Given the description of an element on the screen output the (x, y) to click on. 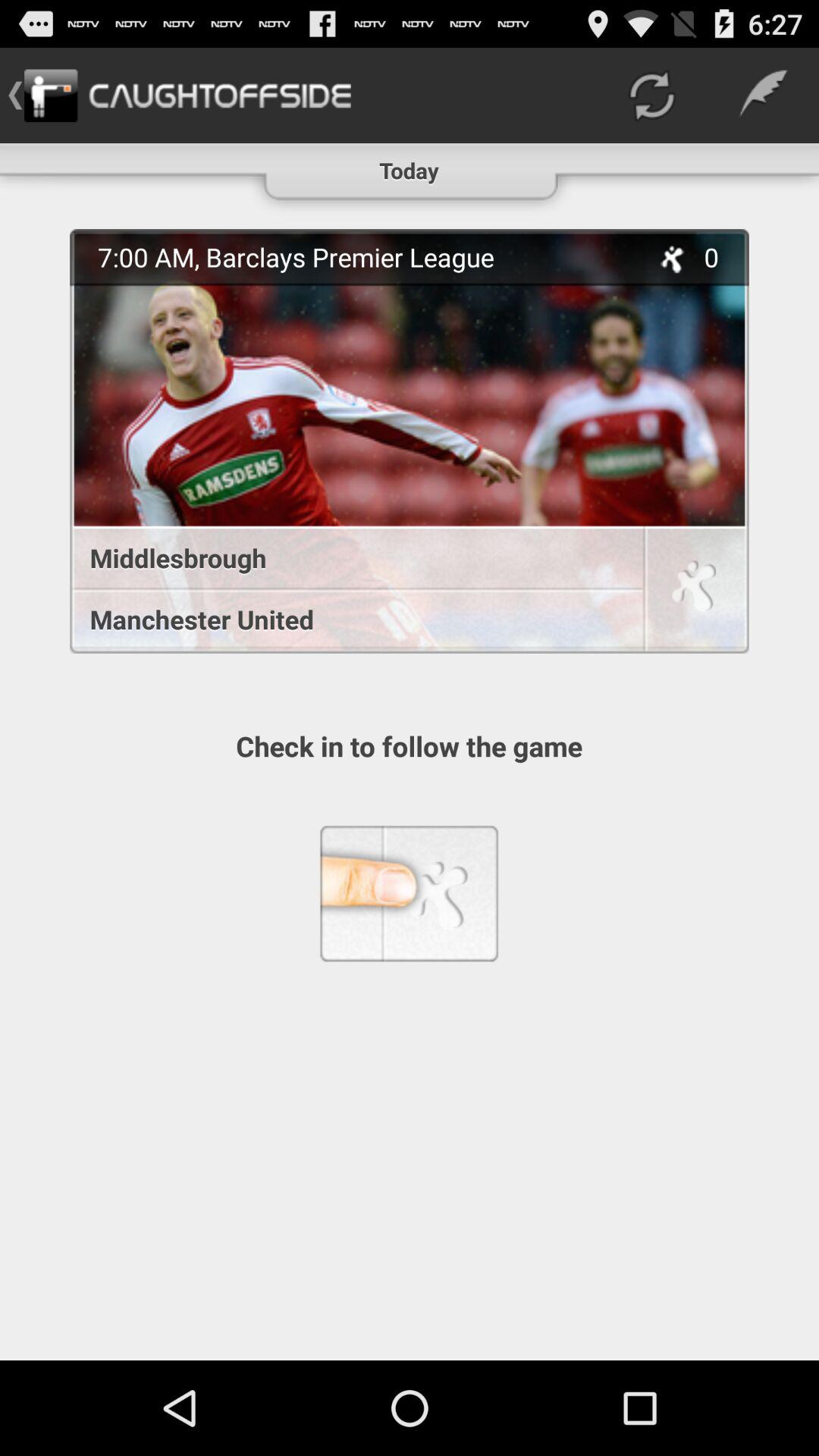
choose the middlesbrough icon (348, 557)
